Given the description of an element on the screen output the (x, y) to click on. 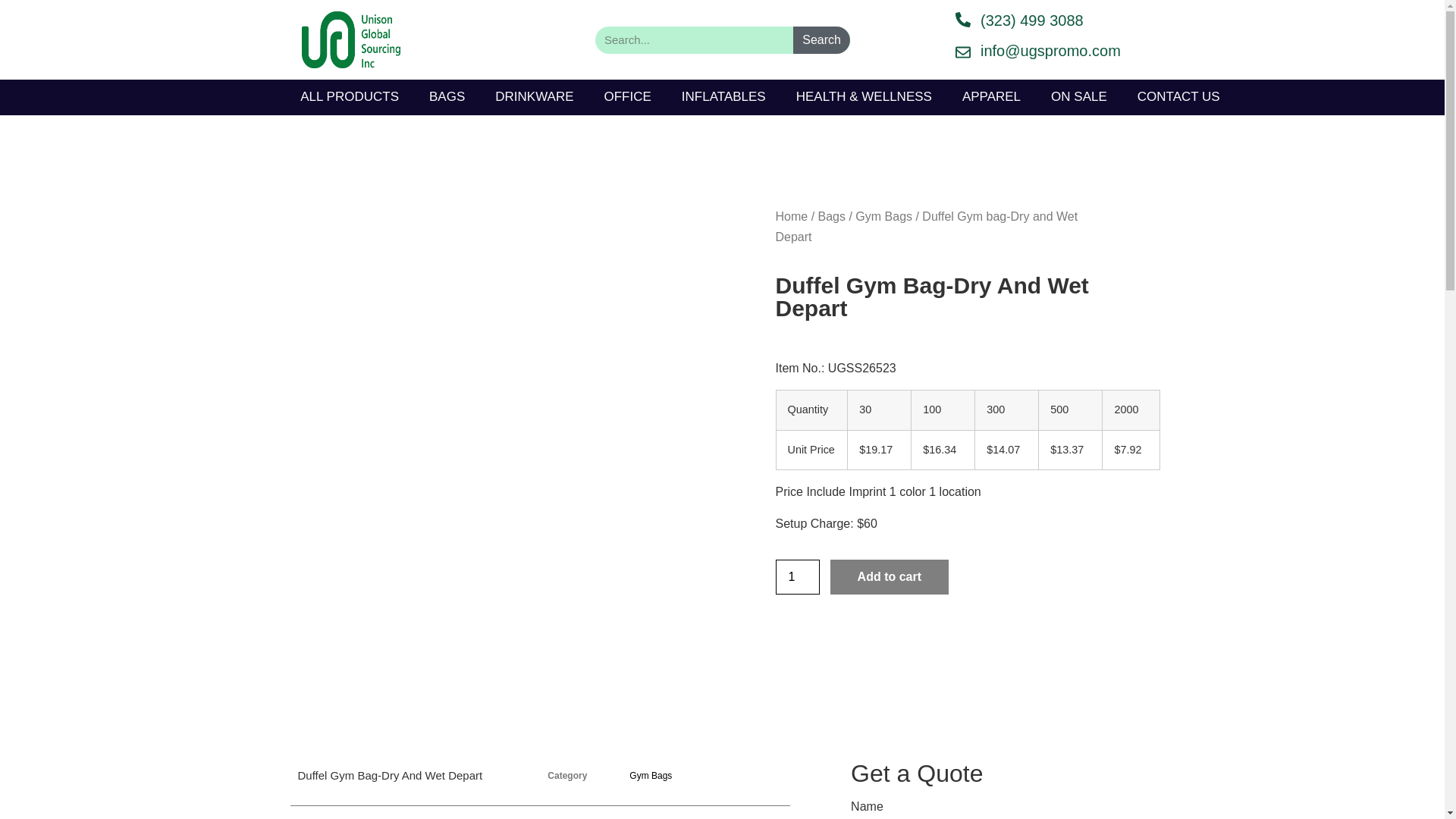
Search (694, 39)
1 (796, 576)
Search (821, 39)
ALL PRODUCTS (349, 96)
Search (821, 39)
